Given the description of an element on the screen output the (x, y) to click on. 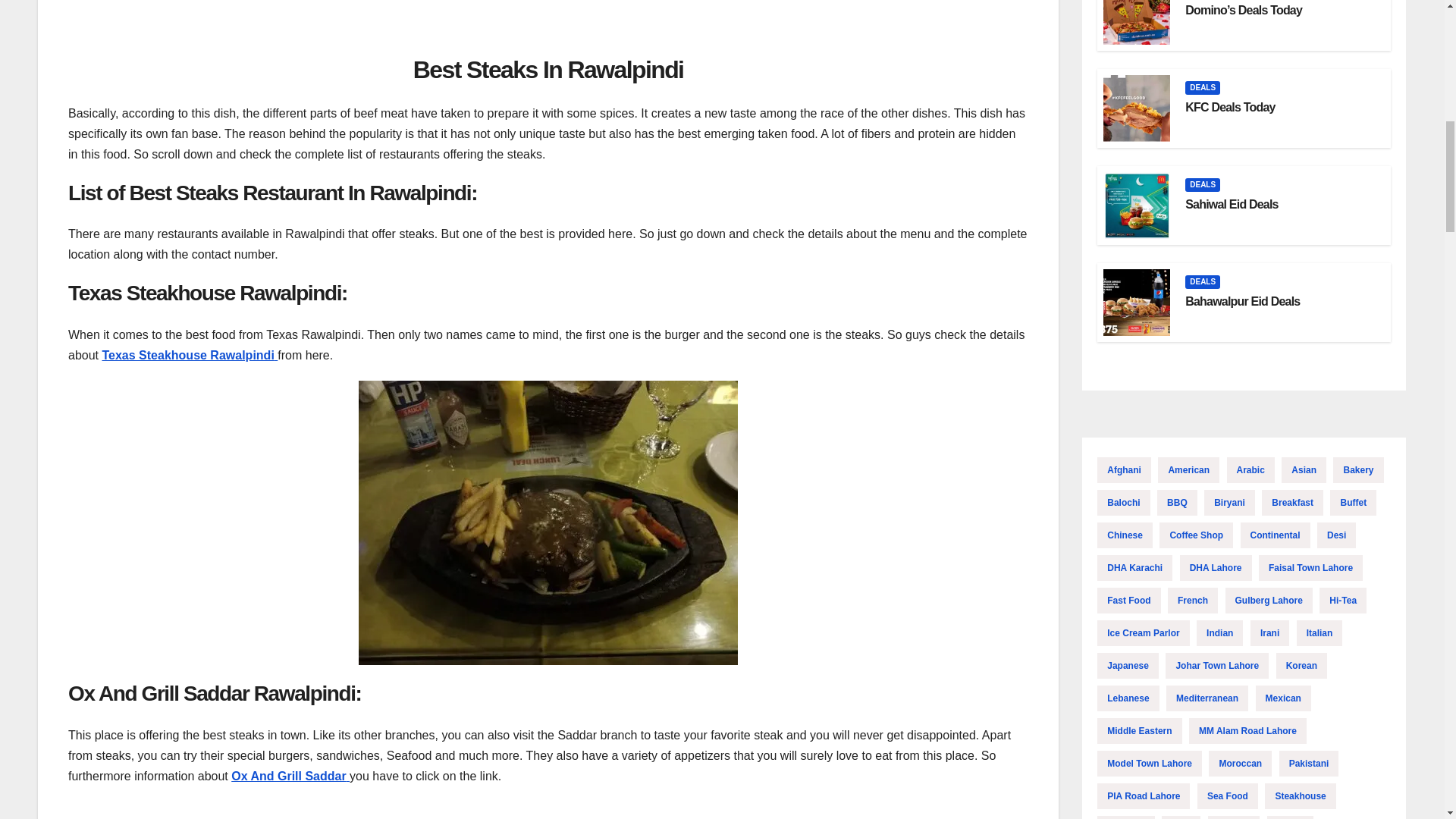
Advertisement (548, 23)
Ox And Grill Saddar (290, 775)
Texas Steakhouse Rawalpindi (189, 354)
